Given the description of an element on the screen output the (x, y) to click on. 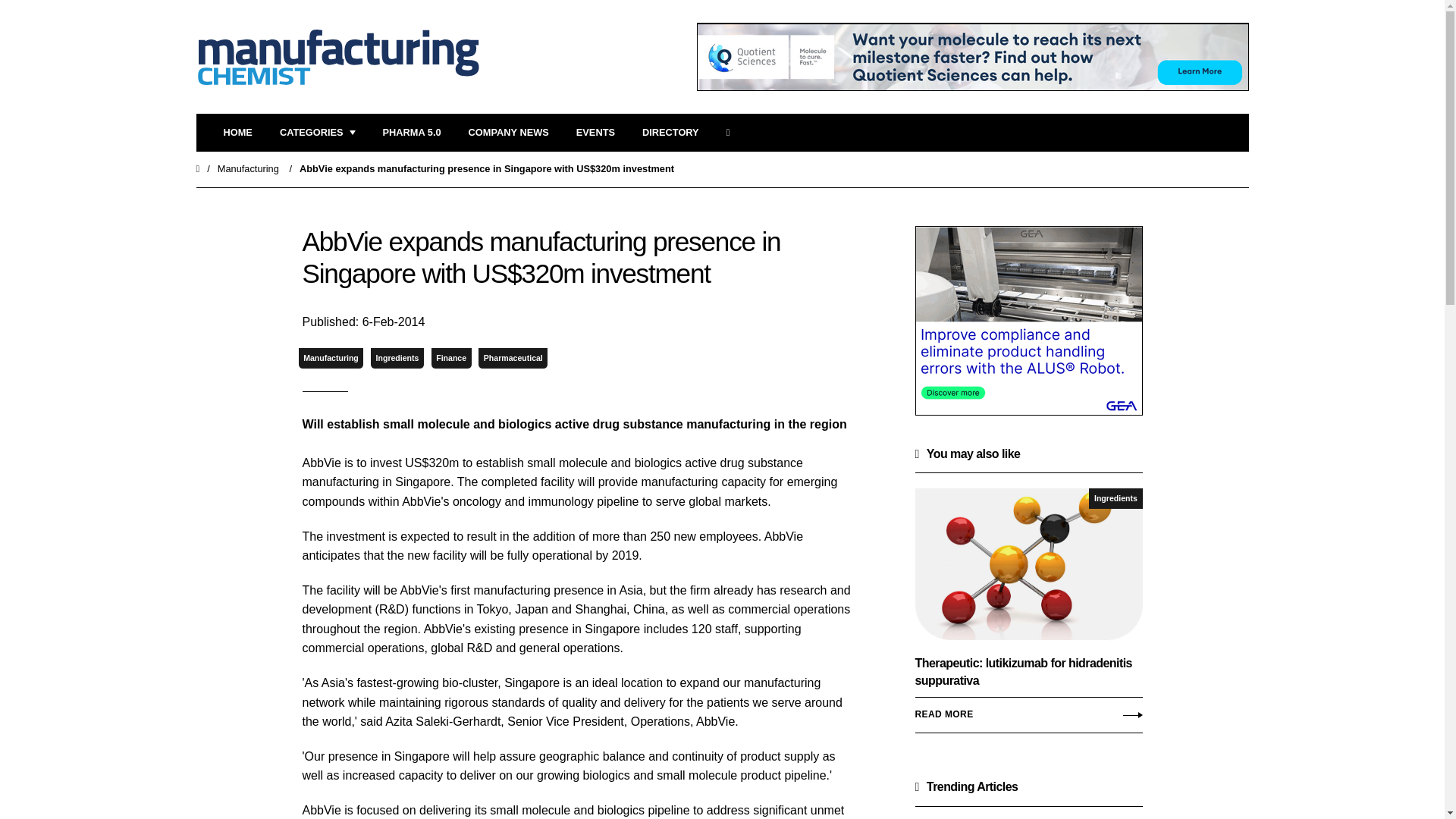
COMPANY NEWS (508, 133)
DIRECTORY (670, 133)
Pharma 5.0 (411, 133)
Finance (450, 358)
CATEGORIES (317, 133)
PHARMA 5.0 (411, 133)
Directory (670, 133)
HOME (236, 133)
Manufacturing (331, 358)
Manufacturing (247, 168)
Ingredients (1115, 498)
Ingredients (397, 358)
SEARCH (732, 133)
EVENTS (595, 133)
Pharmaceutical (513, 358)
